Given the description of an element on the screen output the (x, y) to click on. 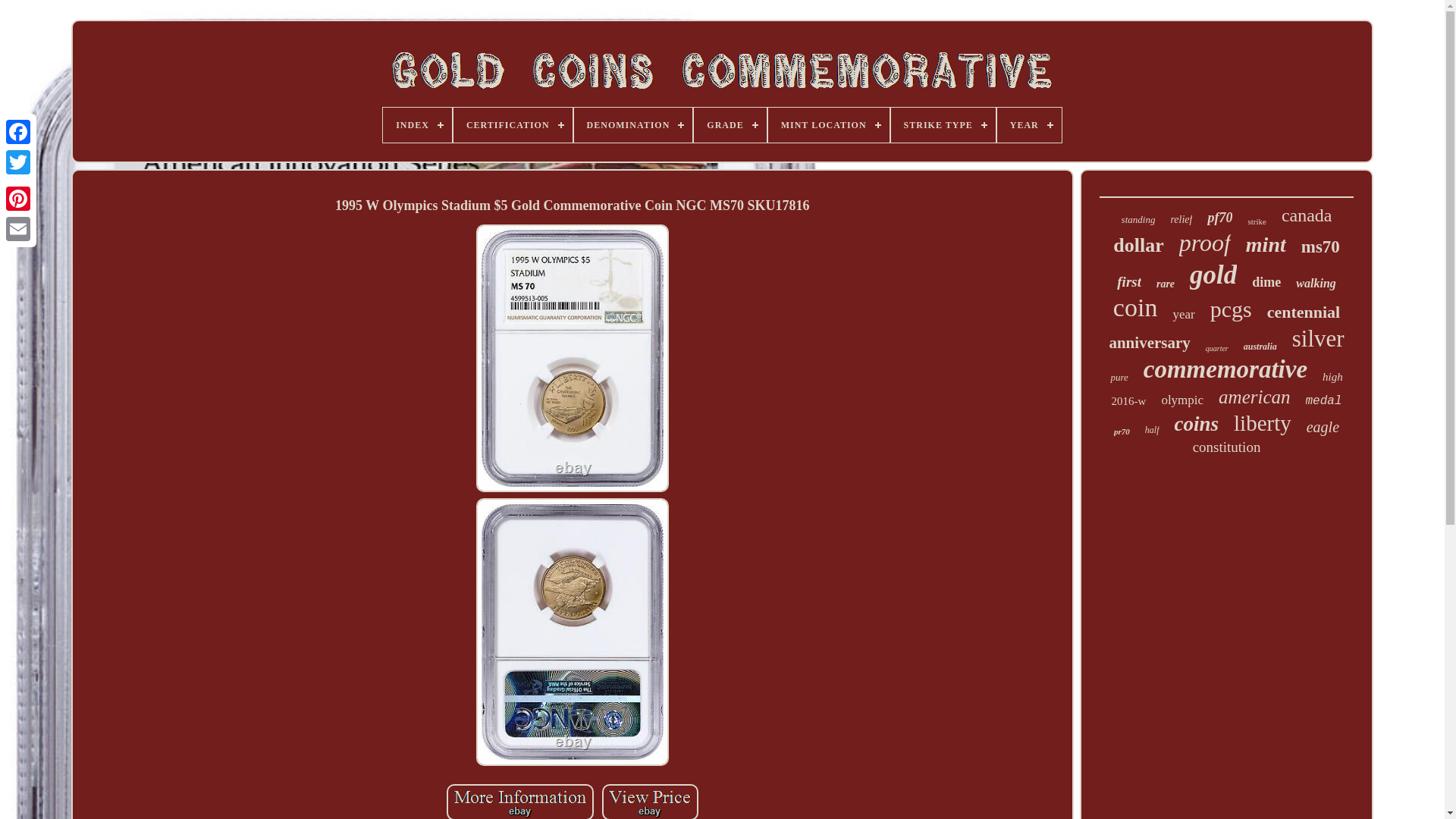
CERTIFICATION (512, 124)
INDEX (416, 124)
Facebook (17, 132)
DENOMINATION (633, 124)
